Given the description of an element on the screen output the (x, y) to click on. 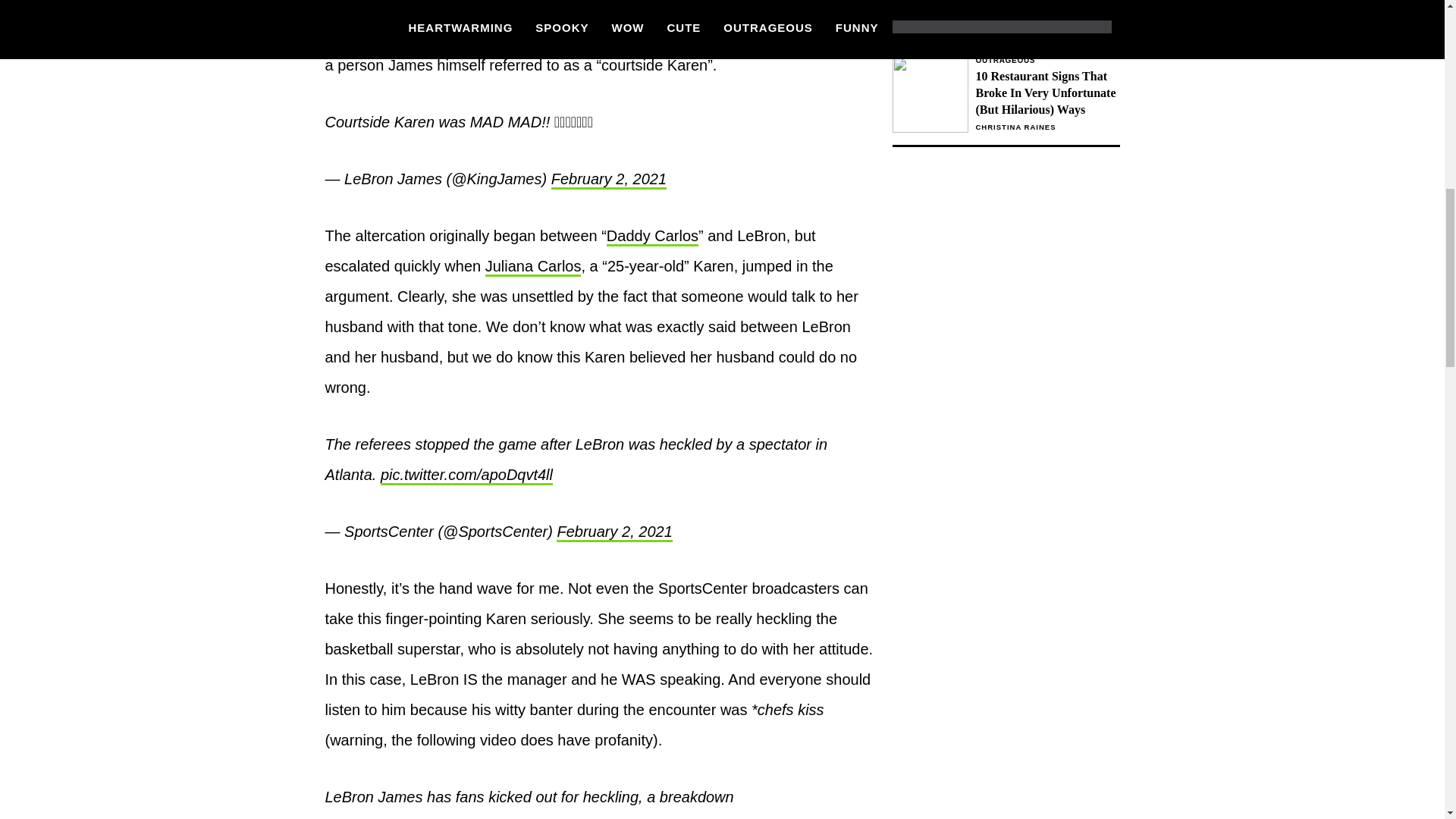
Juliana Carlos (1005, 20)
LeBron James commented (532, 266)
Outrageous (568, 22)
February 2, 2021 (1047, 60)
February 2, 2021 (608, 179)
Daddy Carlos (613, 532)
